Given the description of an element on the screen output the (x, y) to click on. 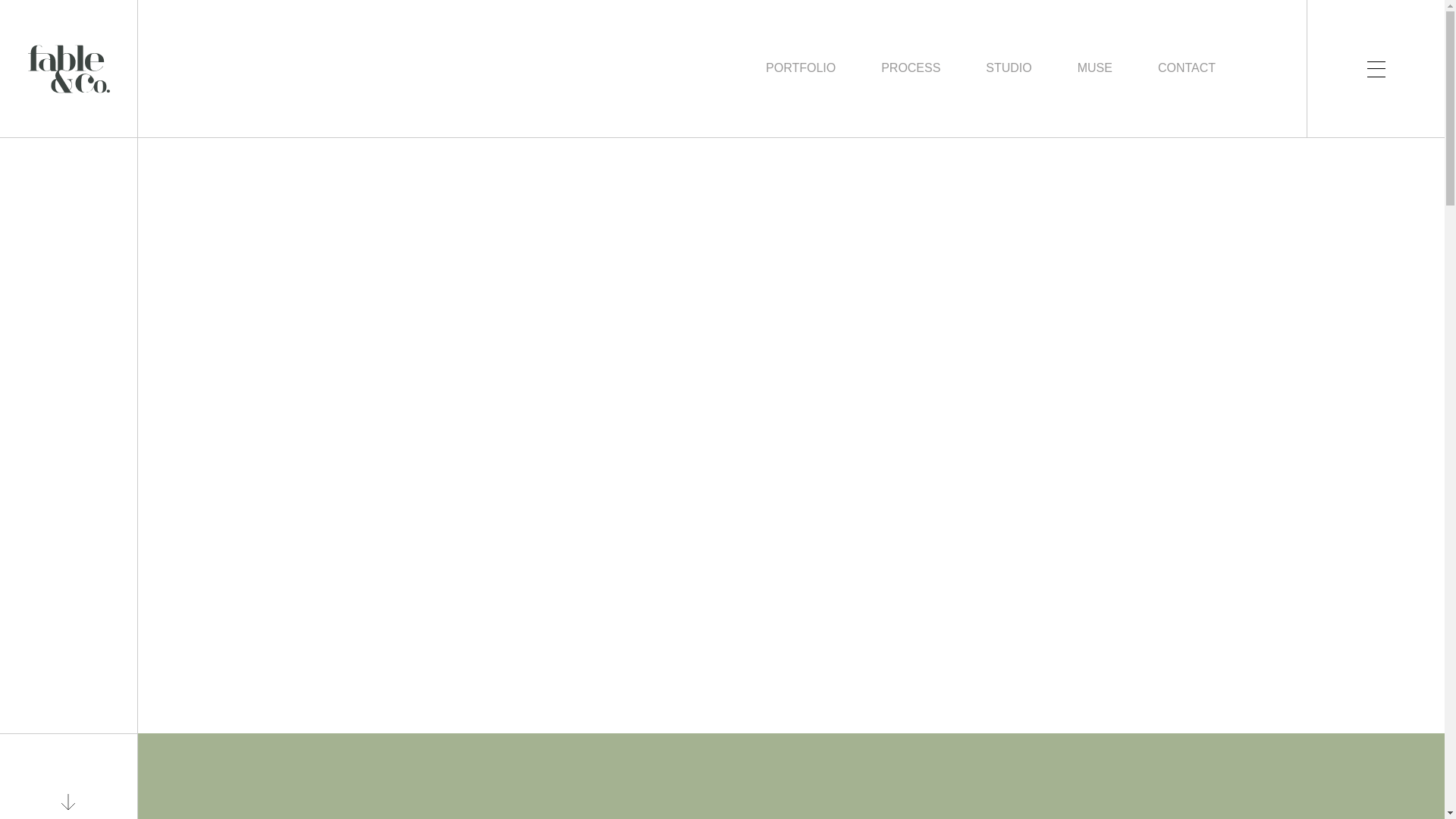
CONTACT (1186, 68)
STUDIO (1007, 68)
PORTFOLIO (800, 68)
MUSE (1094, 68)
PROCESS (910, 68)
